Given the description of an element on the screen output the (x, y) to click on. 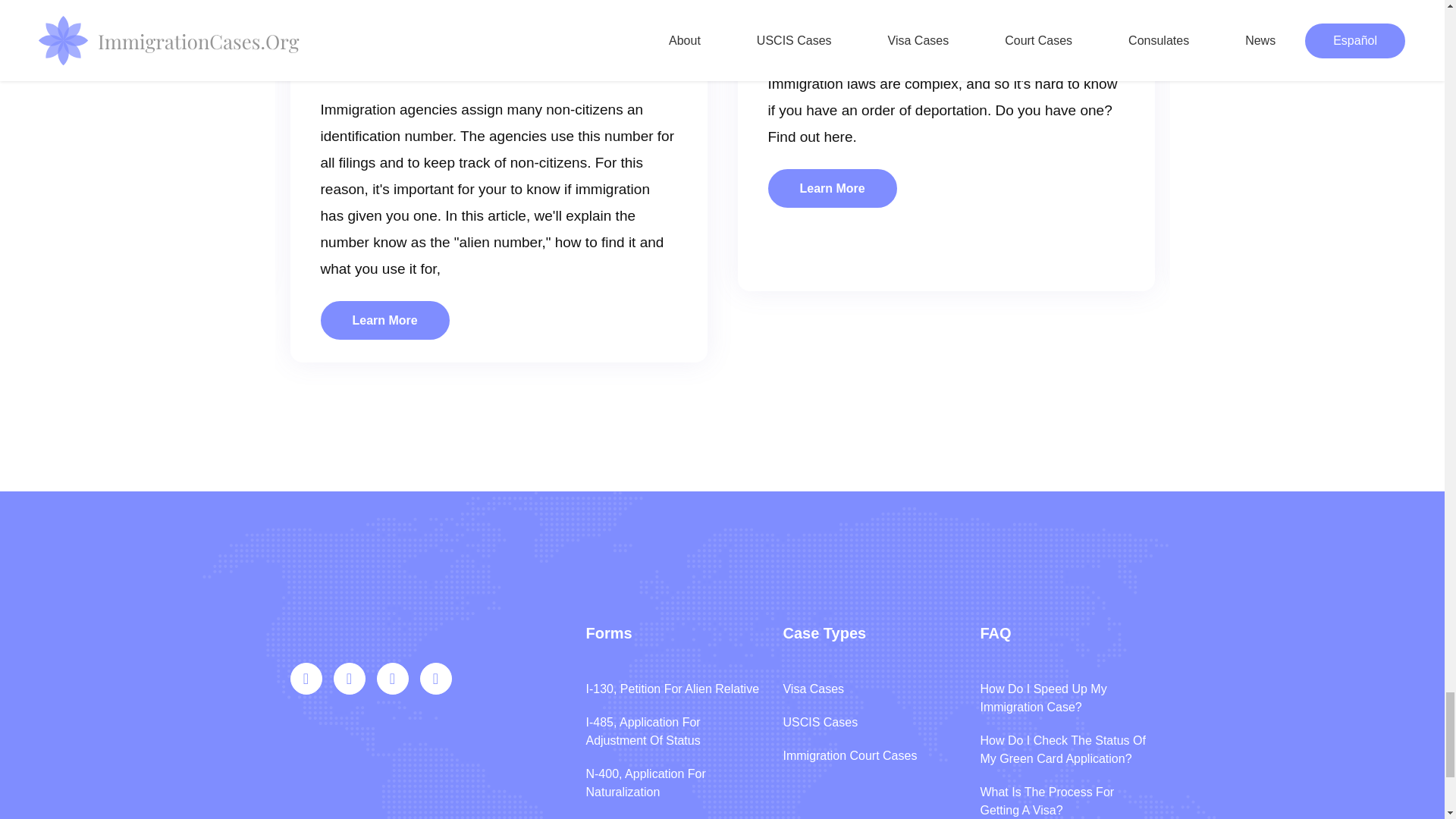
Learn More (384, 320)
Learn More (831, 188)
